Given the description of an element on the screen output the (x, y) to click on. 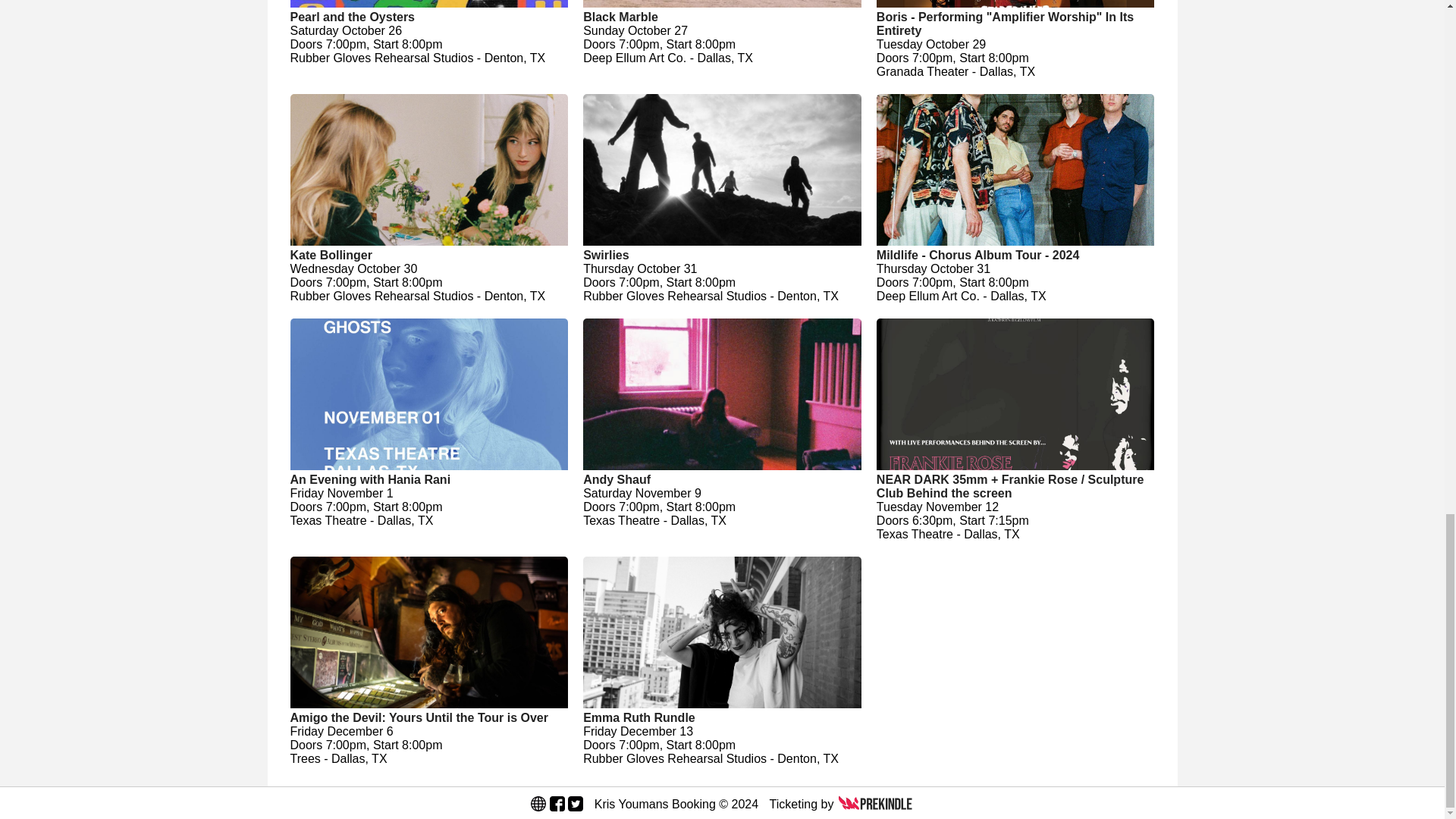
Black Marble (722, 17)
Kate Bollinger (428, 255)
Pearl and the Oysters (428, 17)
Boris - Performing "Amplifier Worship" In Its Entirety (1015, 23)
